Given the description of an element on the screen output the (x, y) to click on. 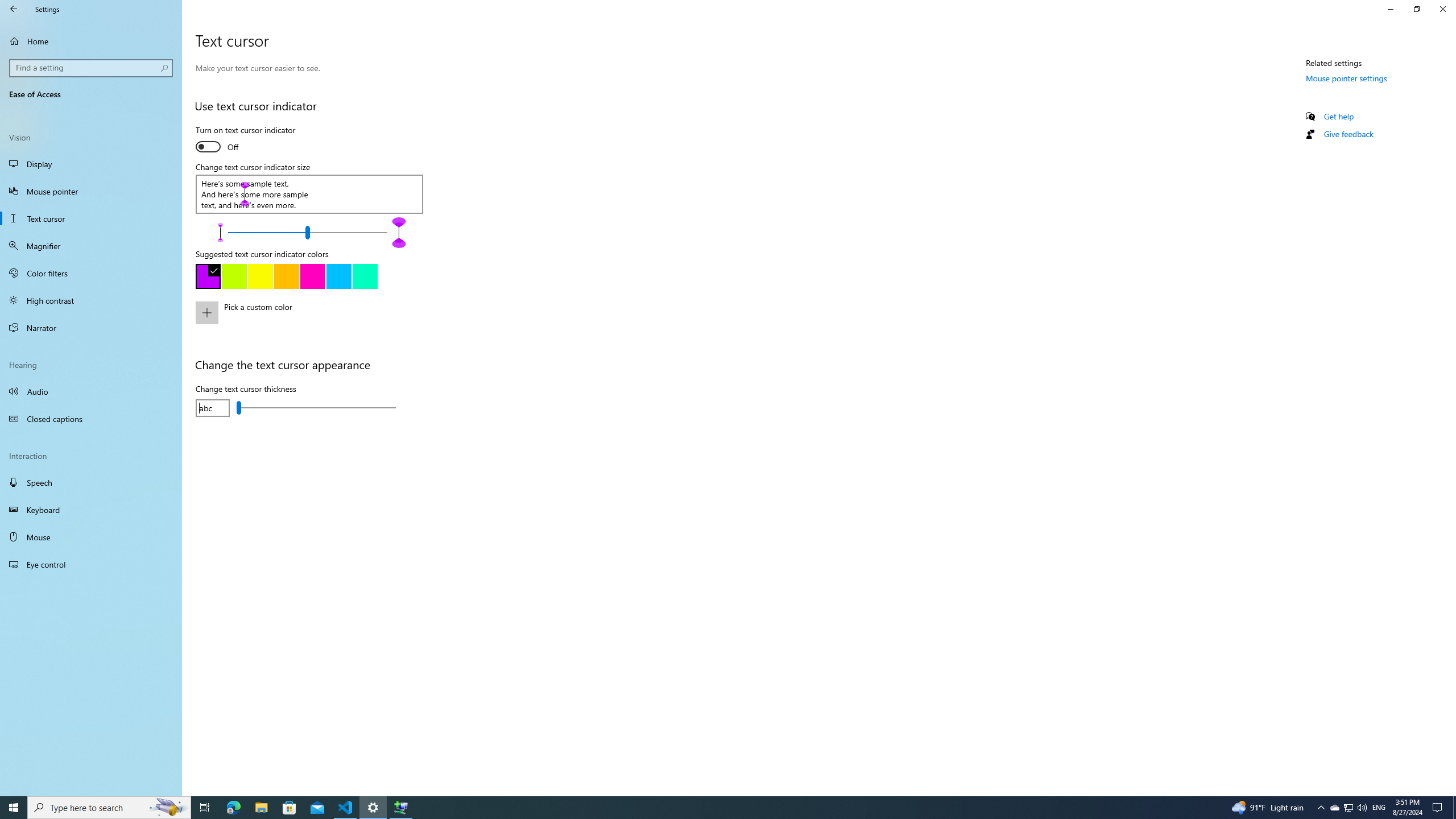
Pick a custom color (319, 320)
Yellow (260, 276)
Color filters (91, 272)
Text cursor (91, 217)
Give feedback (1348, 133)
Turquoise (338, 276)
